Given the description of an element on the screen output the (x, y) to click on. 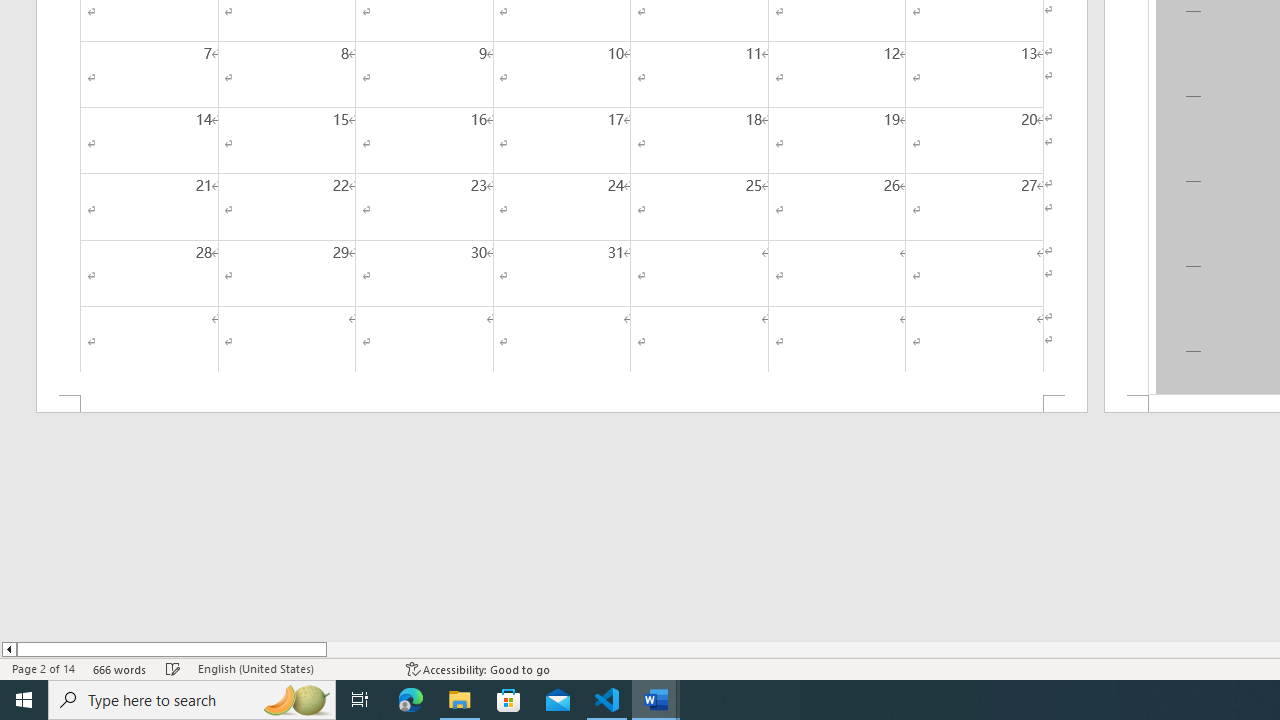
Page Number Page 2 of 14 (43, 668)
Column left (8, 649)
